Given the description of an element on the screen output the (x, y) to click on. 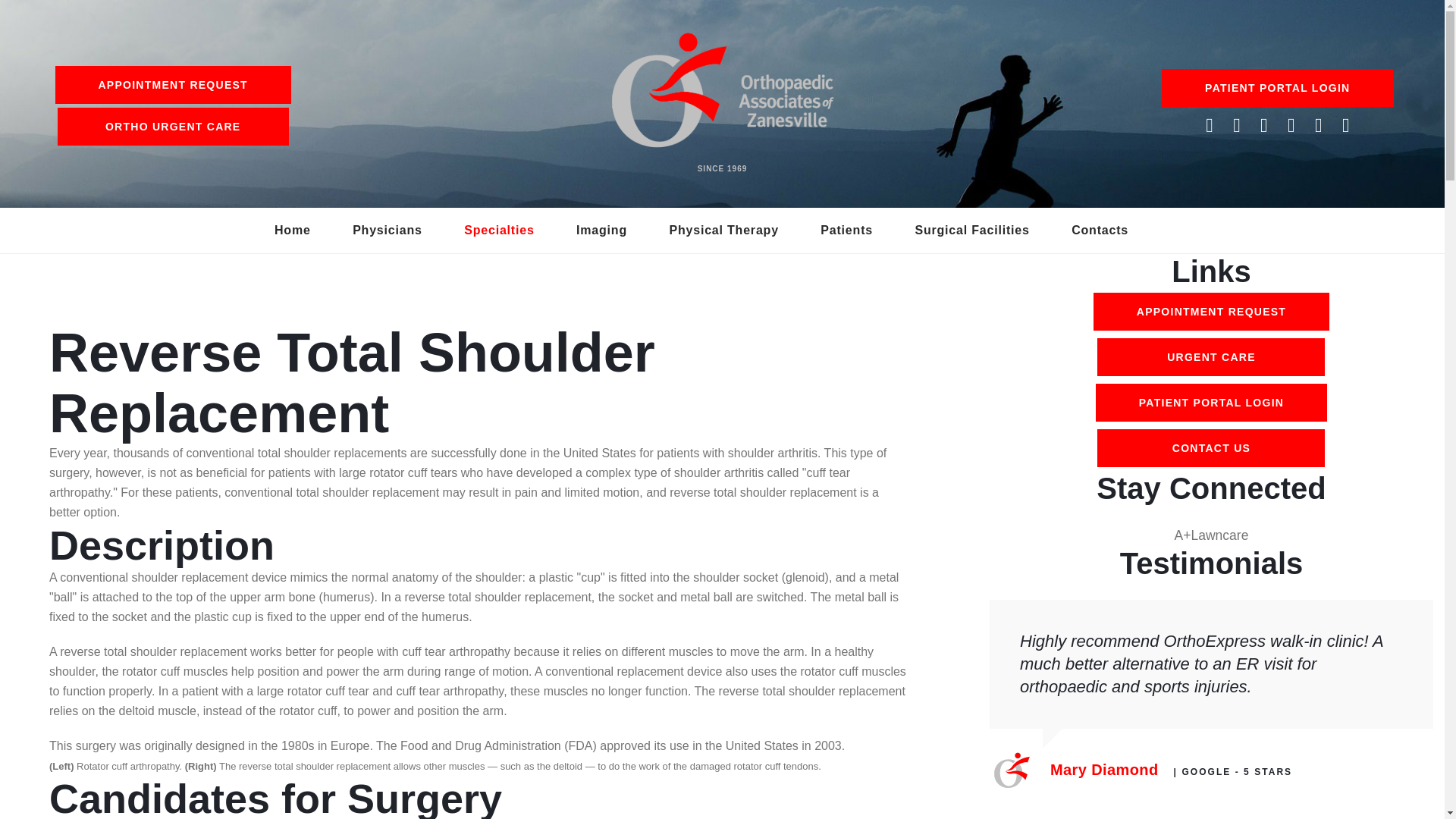
PATIENT PORTAL LOGIN (1277, 87)
Specialties (499, 229)
Physicians (387, 229)
ORTHO URGENT CARE (173, 126)
Home (293, 229)
APPOINTMENT REQUEST (172, 85)
SINCE 1969 (721, 101)
